Given the description of an element on the screen output the (x, y) to click on. 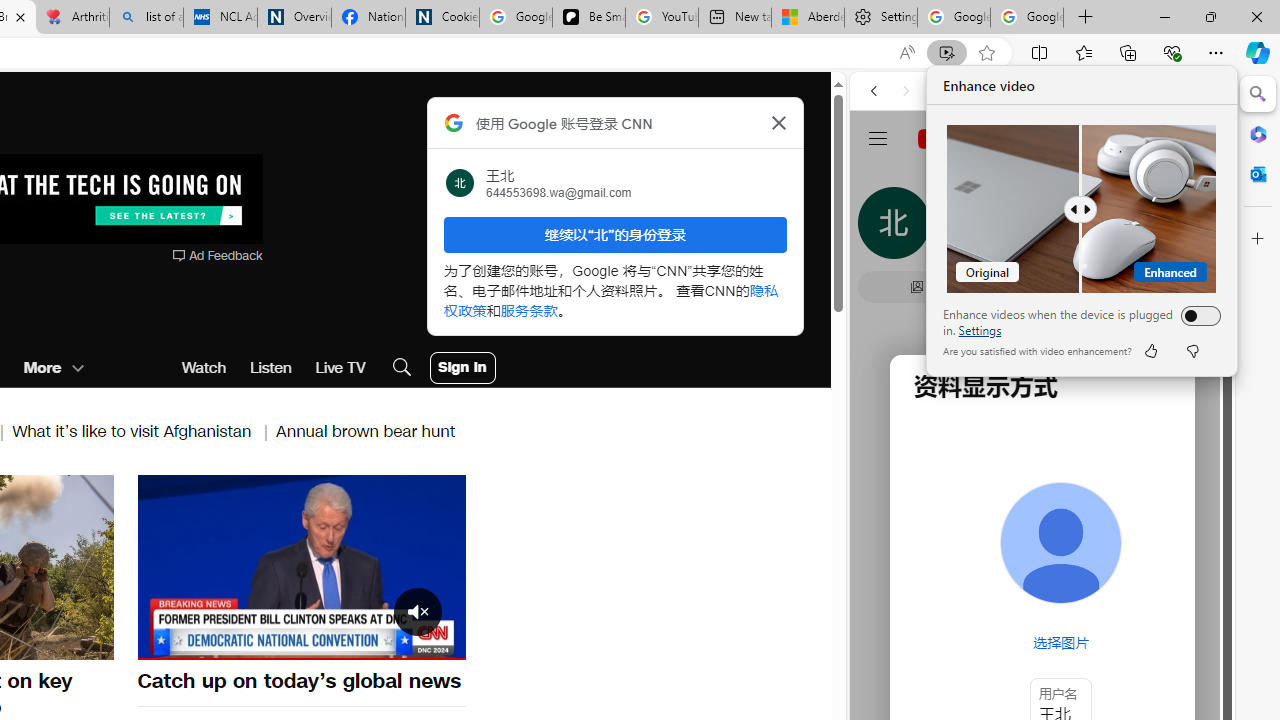
like (1150, 350)
Options (394, 642)
Unmute (164, 642)
Google (1042, 494)
Cookies (441, 17)
